Given the description of an element on the screen output the (x, y) to click on. 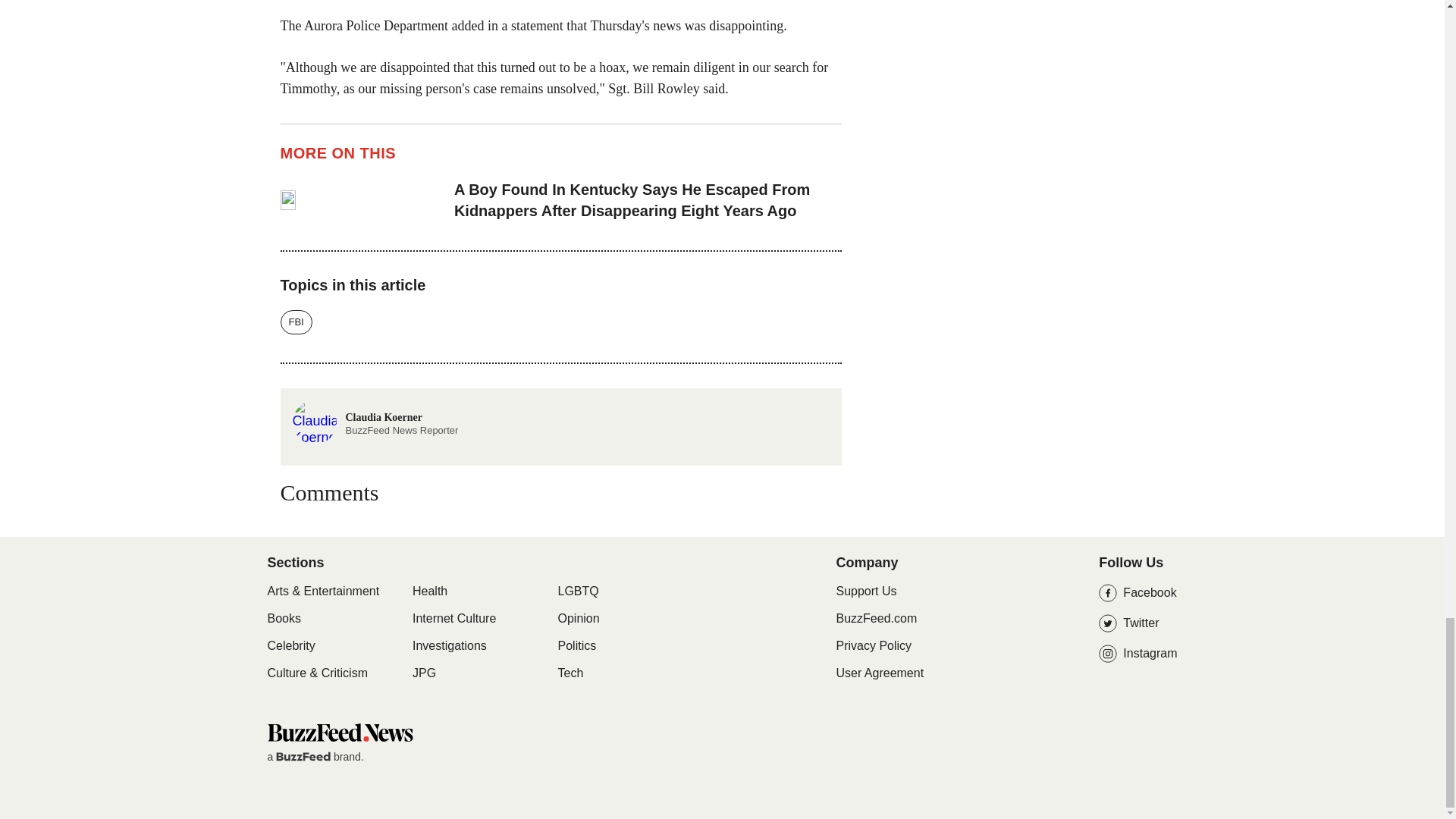
Politics (576, 645)
JPG (423, 672)
Internet Culture (454, 618)
Celebrity (290, 645)
Investigations (449, 645)
FBI (297, 322)
Support Us (865, 590)
BuzzFeed (303, 756)
LGBTQ (577, 590)
Opinion (578, 618)
